Given the description of an element on the screen output the (x, y) to click on. 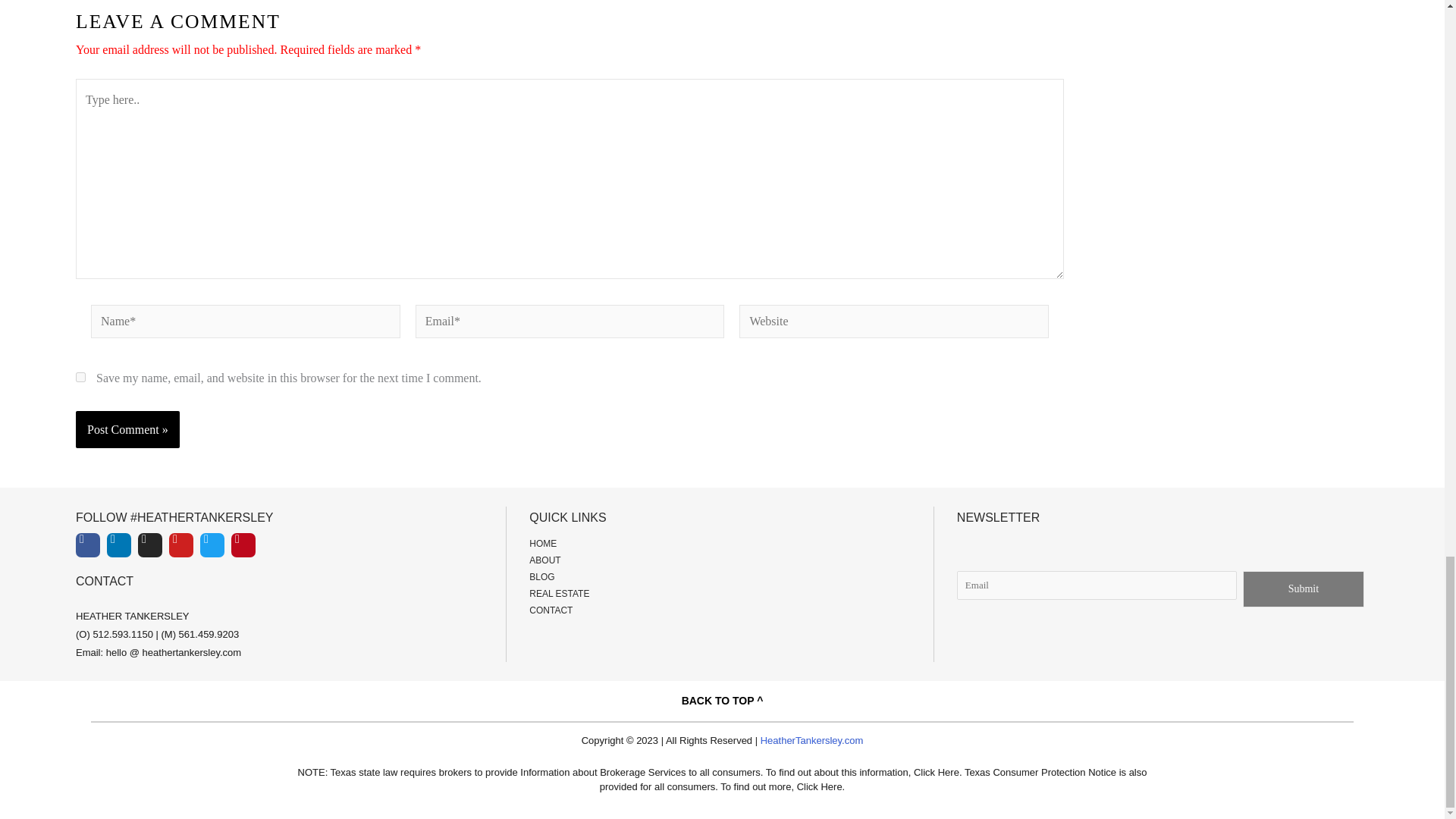
yes (80, 377)
